Given the description of an element on the screen output the (x, y) to click on. 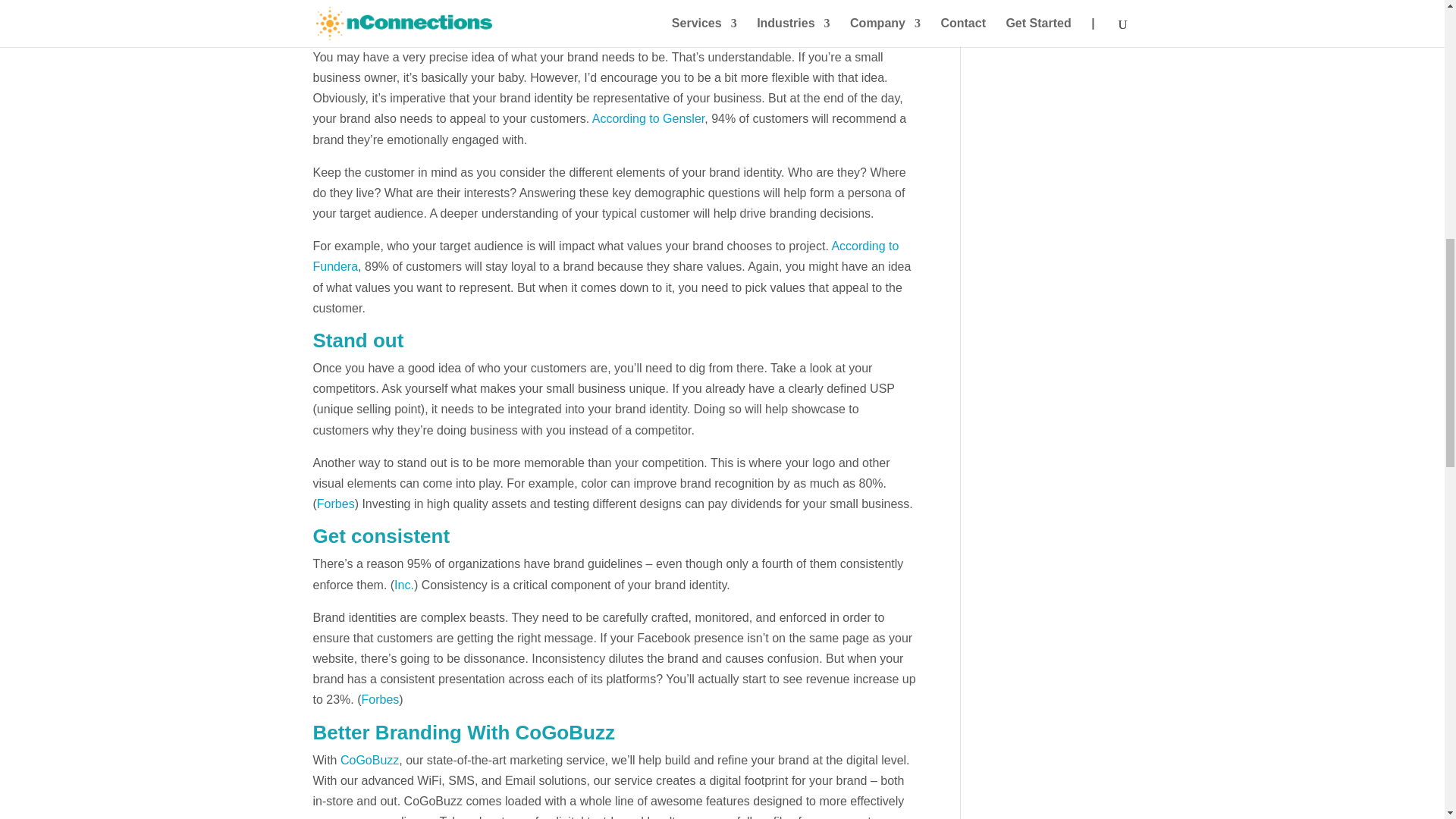
Inc. (403, 584)
According to Gensler (648, 118)
CoGoBuzz (369, 759)
According to Fundera (605, 255)
Forbes (379, 698)
Forbes (336, 503)
